Given the description of an element on the screen output the (x, y) to click on. 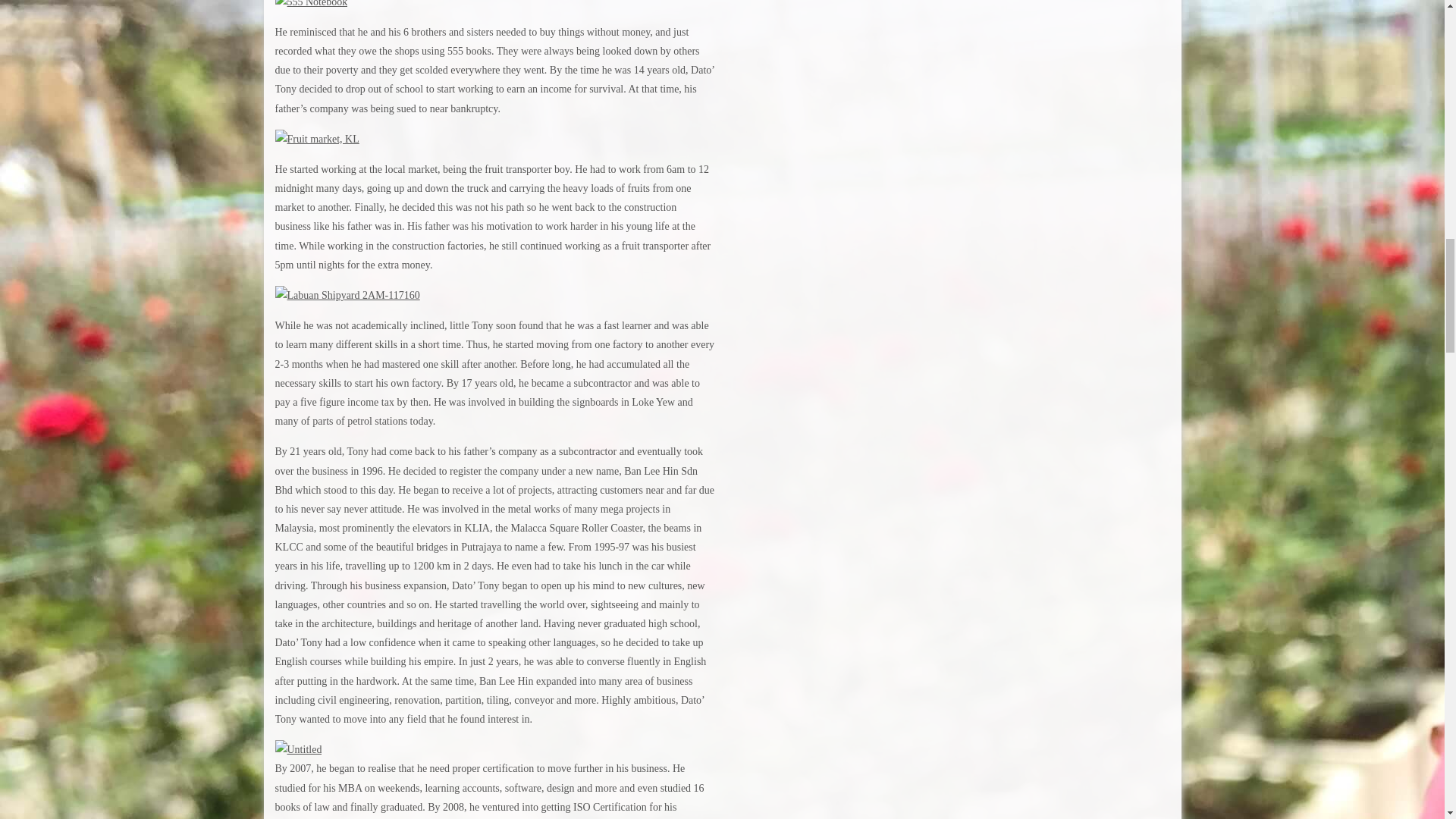
Untitled (298, 749)
Fruit market, KL (316, 138)
555 Notebook (311, 3)
Labuan Shipyard 2AM-117160 (347, 295)
